Given the description of an element on the screen output the (x, y) to click on. 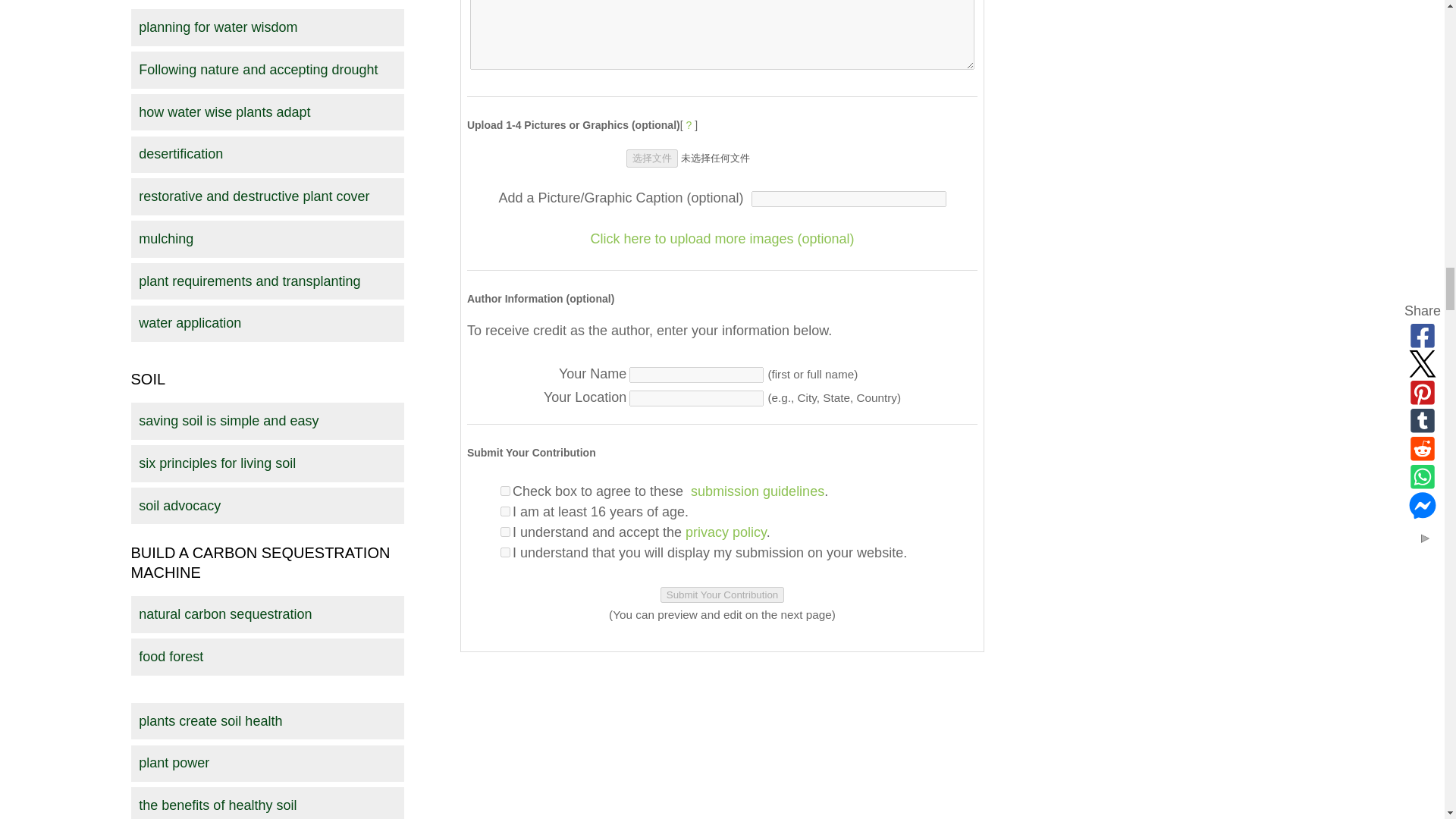
checkbox (505, 491)
1 (505, 511)
1 (505, 532)
Submit Your Contribution (722, 594)
1 (505, 552)
